Given the description of an element on the screen output the (x, y) to click on. 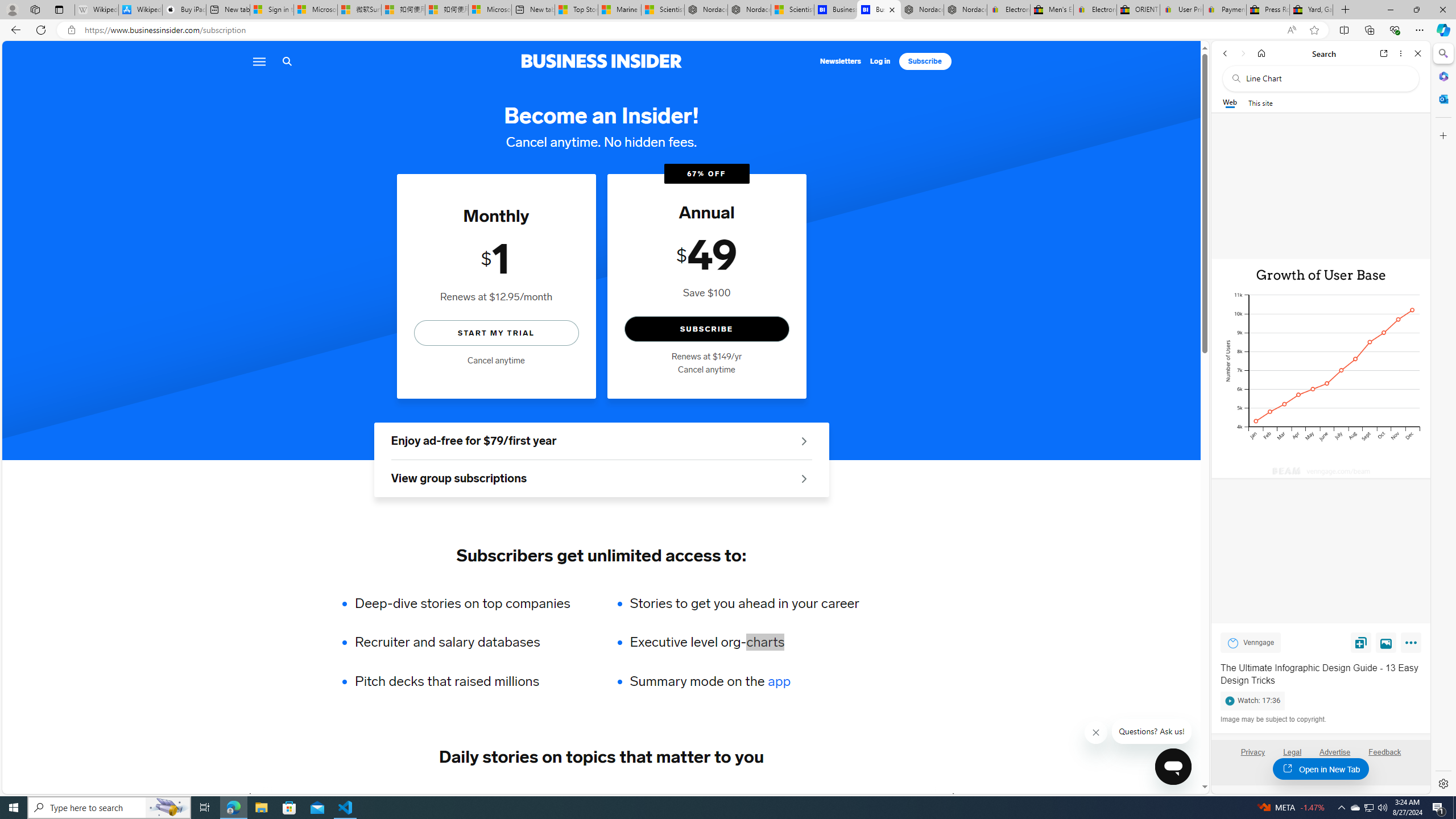
Minimize Search pane (1442, 53)
app (778, 681)
Menu icon (257, 61)
Open in New Tab (1321, 768)
Marine life - MSN (619, 9)
